Given the description of an element on the screen output the (x, y) to click on. 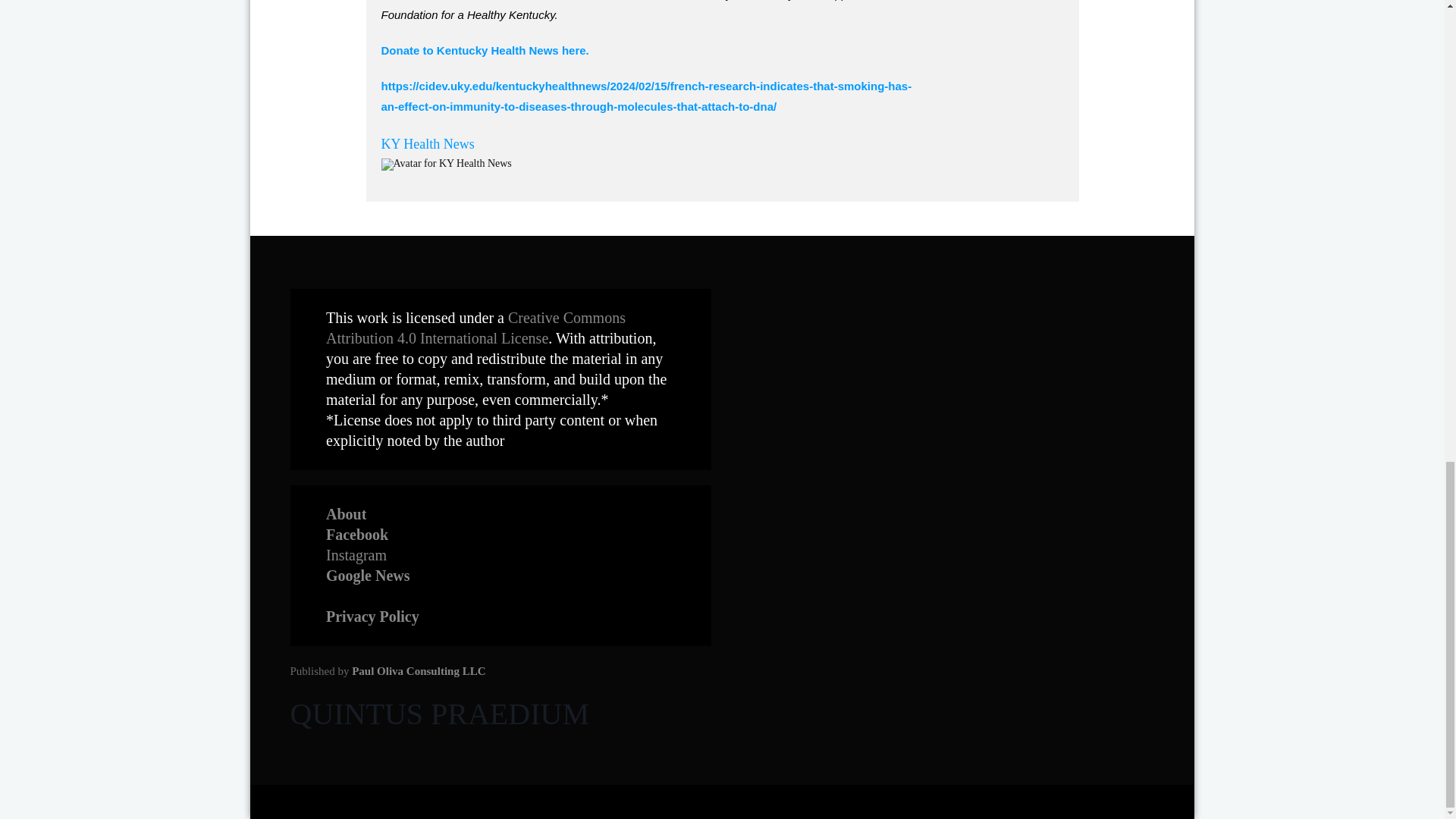
Posts by KY Health News (427, 143)
Gravatar for KY Health News (445, 164)
